Given the description of an element on the screen output the (x, y) to click on. 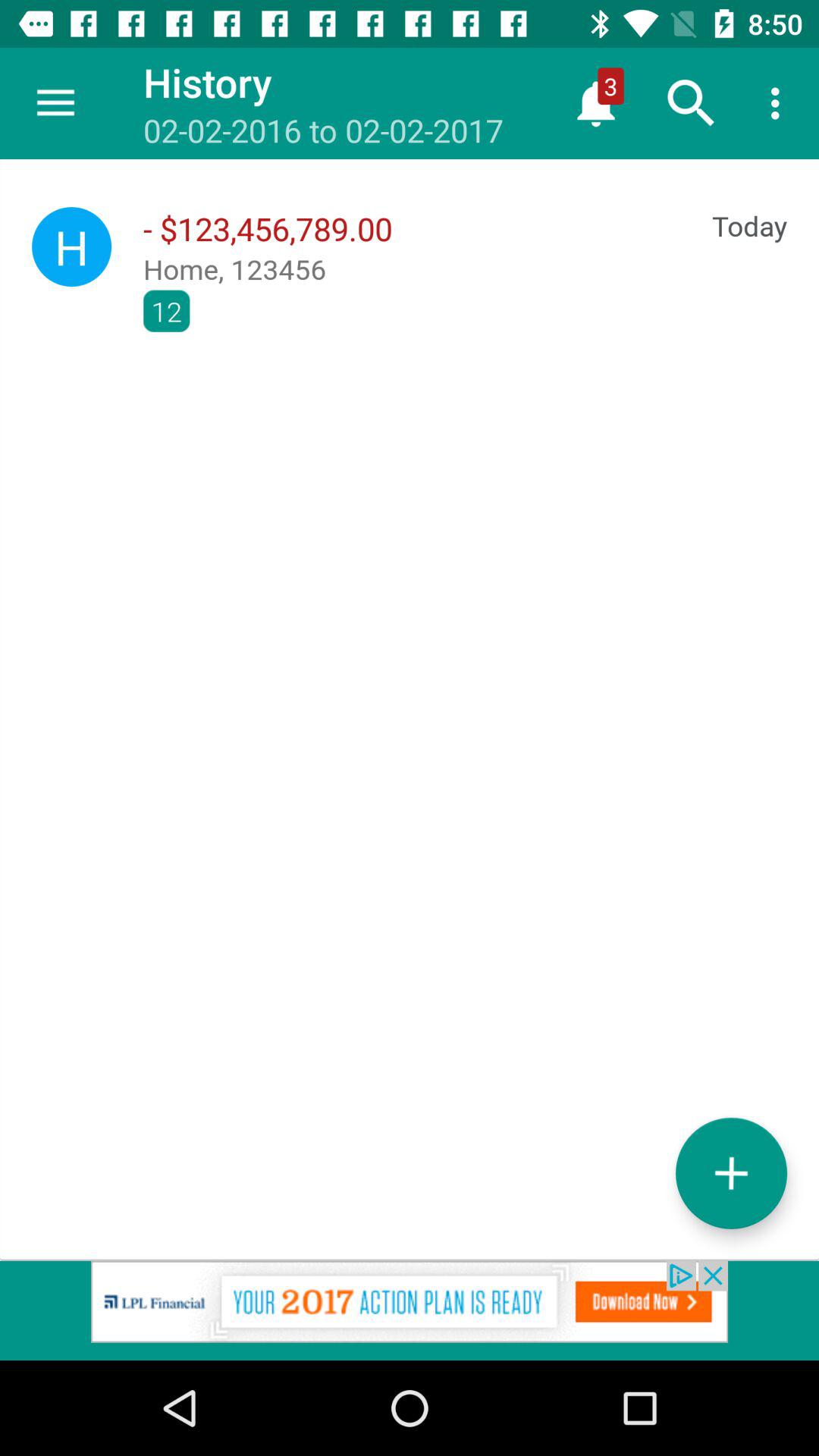
advertisement link (409, 1310)
